Given the description of an element on the screen output the (x, y) to click on. 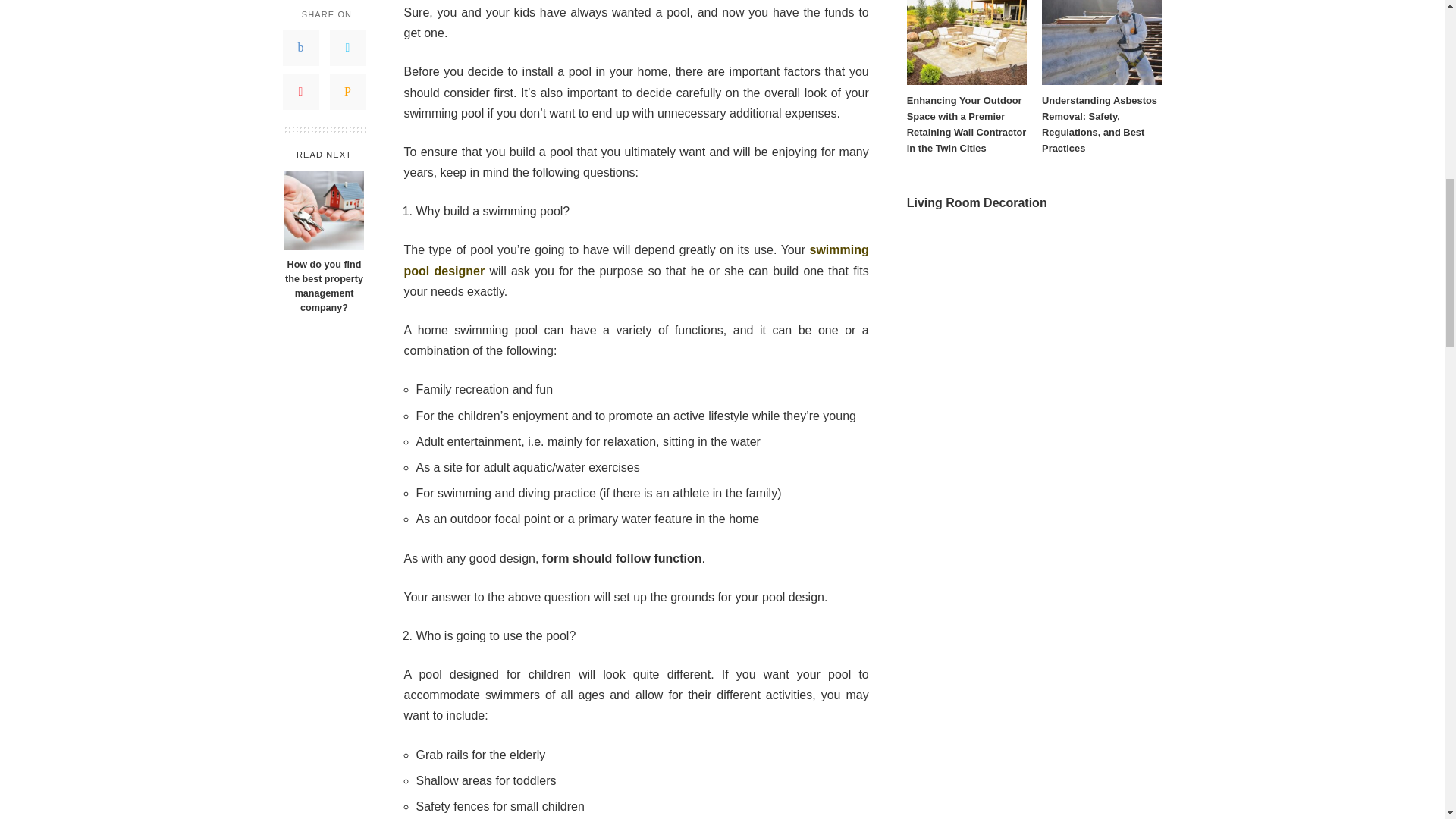
Email (347, 85)
Pinterest (300, 85)
How do you find the best property management company? (323, 281)
Twitter (347, 42)
swimming pool designer (635, 259)
Facebook (300, 42)
